Given the description of an element on the screen output the (x, y) to click on. 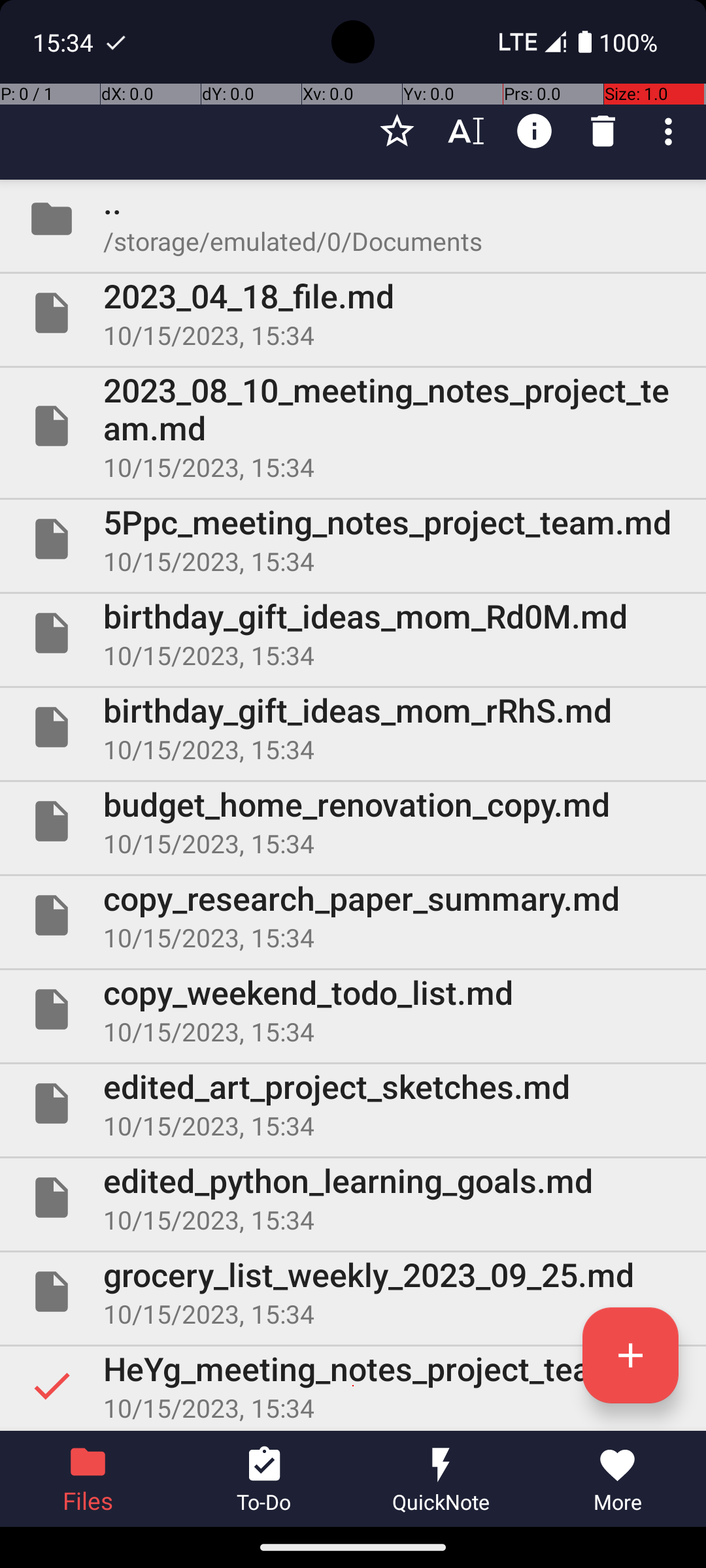
Favourite Element type: android.widget.TextView (396, 131)
Rename Element type: android.widget.TextView (465, 131)
File 2023_04_18_file.md  Element type: android.widget.LinearLayout (353, 312)
File 2023_08_10_meeting_notes_project_team.md  Element type: android.widget.LinearLayout (353, 425)
File 5Ppc_meeting_notes_project_team.md  Element type: android.widget.LinearLayout (353, 538)
File birthday_gift_ideas_mom_Rd0M.md  Element type: android.widget.LinearLayout (353, 632)
File birthday_gift_ideas_mom_rRhS.md  Element type: android.widget.LinearLayout (353, 726)
File budget_home_renovation_copy.md  Element type: android.widget.LinearLayout (353, 821)
File copy_research_paper_summary.md  Element type: android.widget.LinearLayout (353, 915)
File copy_weekend_todo_list.md  Element type: android.widget.LinearLayout (353, 1009)
File edited_art_project_sketches.md  Element type: android.widget.LinearLayout (353, 1103)
File edited_python_learning_goals.md  Element type: android.widget.LinearLayout (353, 1197)
File grocery_list_weekly_2023_09_25.md  Element type: android.widget.LinearLayout (353, 1291)
Selected HeYg_meeting_notes_project_team.md  Element type: android.widget.LinearLayout (353, 1385)
